Given the description of an element on the screen output the (x, y) to click on. 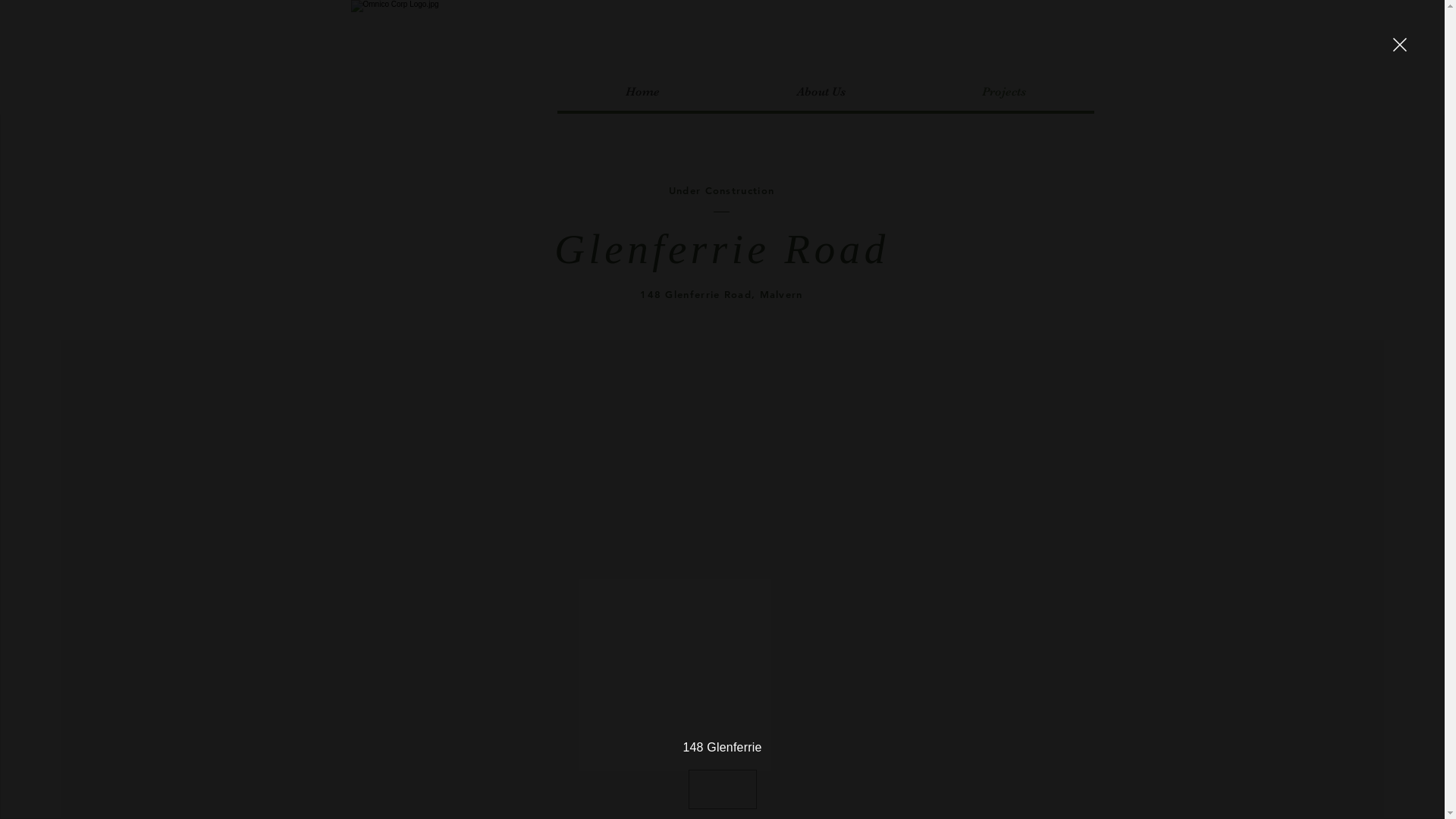
Home Element type: text (641, 91)
Projects Element type: text (1003, 91)
About Us Element type: text (820, 91)
